Given the description of an element on the screen output the (x, y) to click on. 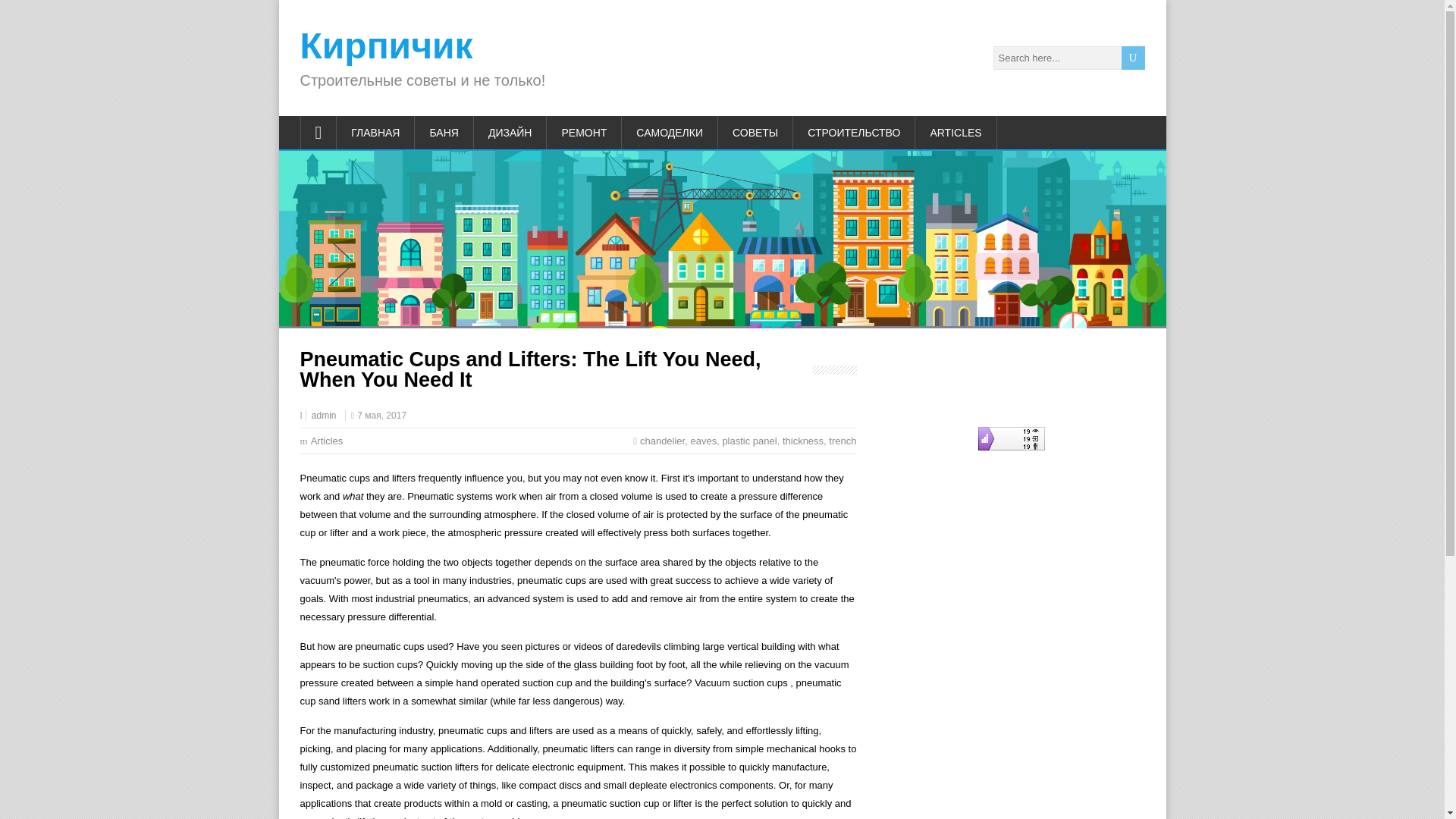
plastic panel (749, 440)
trench (842, 440)
Articles (327, 440)
thickness (803, 440)
eaves (703, 440)
chandelier (662, 440)
U (1132, 57)
ARTICLES (955, 132)
admin (323, 415)
U (1132, 57)
